Given the description of an element on the screen output the (x, y) to click on. 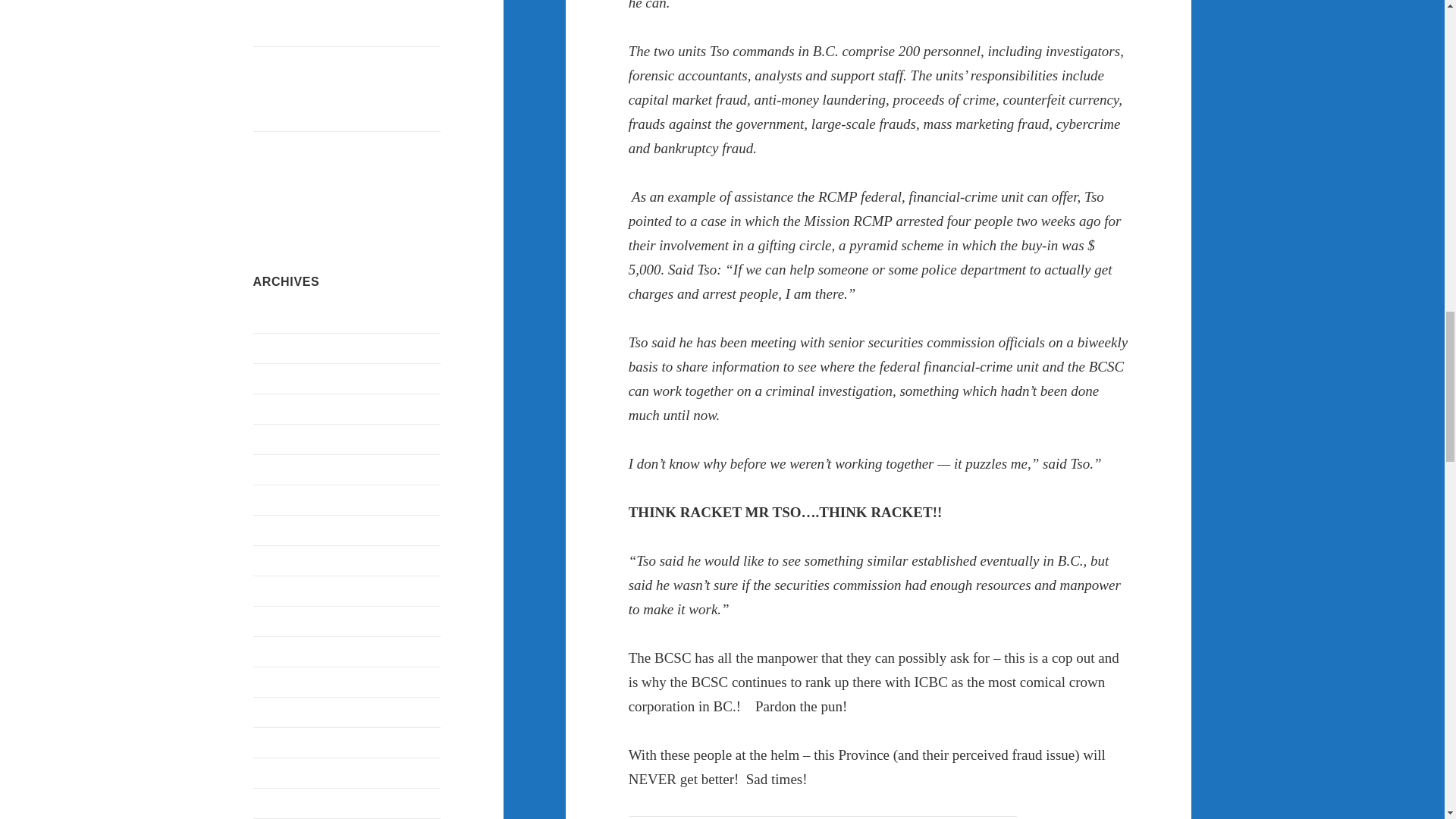
December 2019 (291, 348)
November 2018 (292, 651)
March 2019 (283, 560)
May 2018 (277, 802)
July 2018 (277, 742)
September 2018 (292, 681)
November 2019 (292, 378)
January 2020 (285, 318)
April 2019 (279, 530)
May 2019 (277, 499)
